Given the description of an element on the screen output the (x, y) to click on. 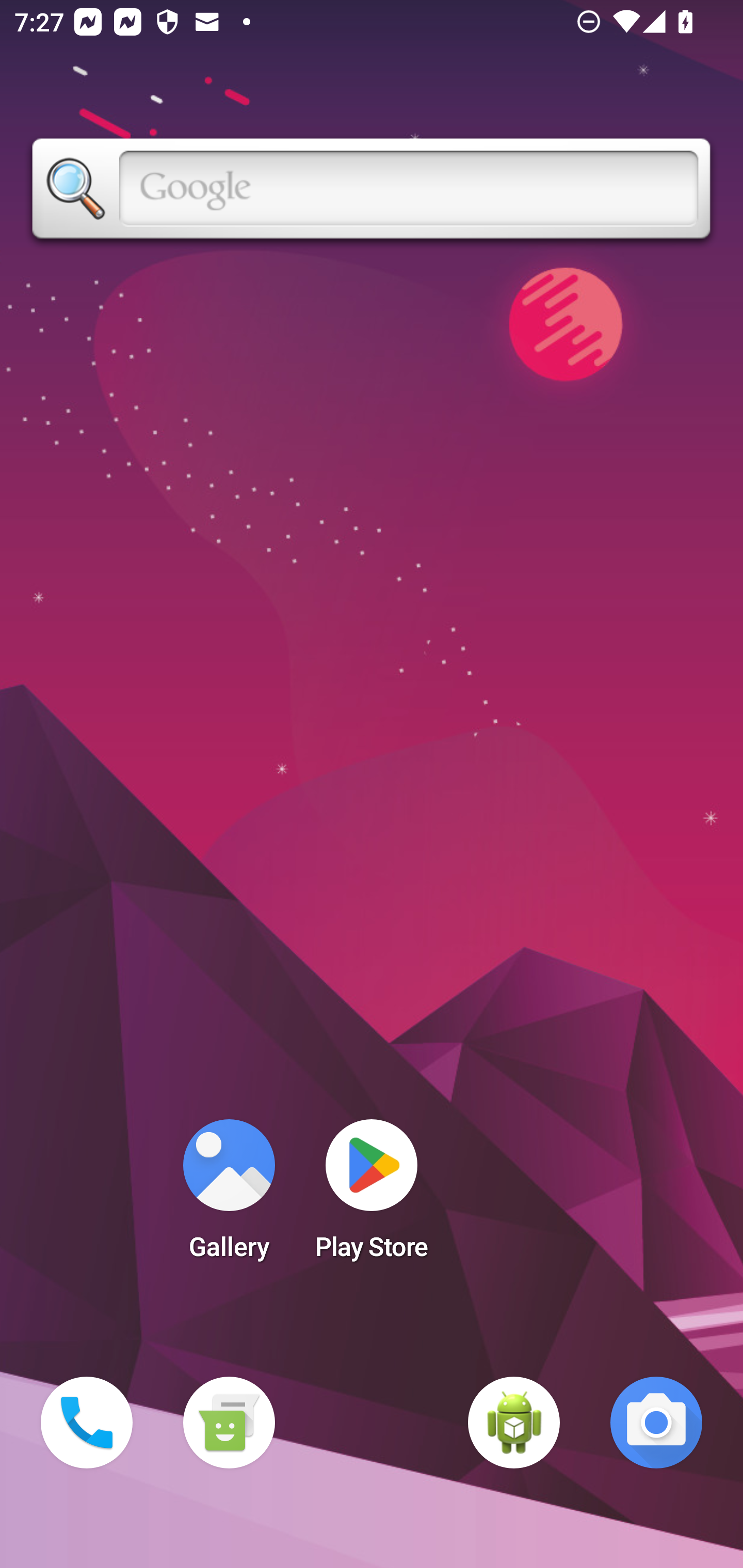
Gallery (228, 1195)
Play Store (371, 1195)
Phone (86, 1422)
Messaging (228, 1422)
WebView Browser Tester (513, 1422)
Camera (656, 1422)
